Given the description of an element on the screen output the (x, y) to click on. 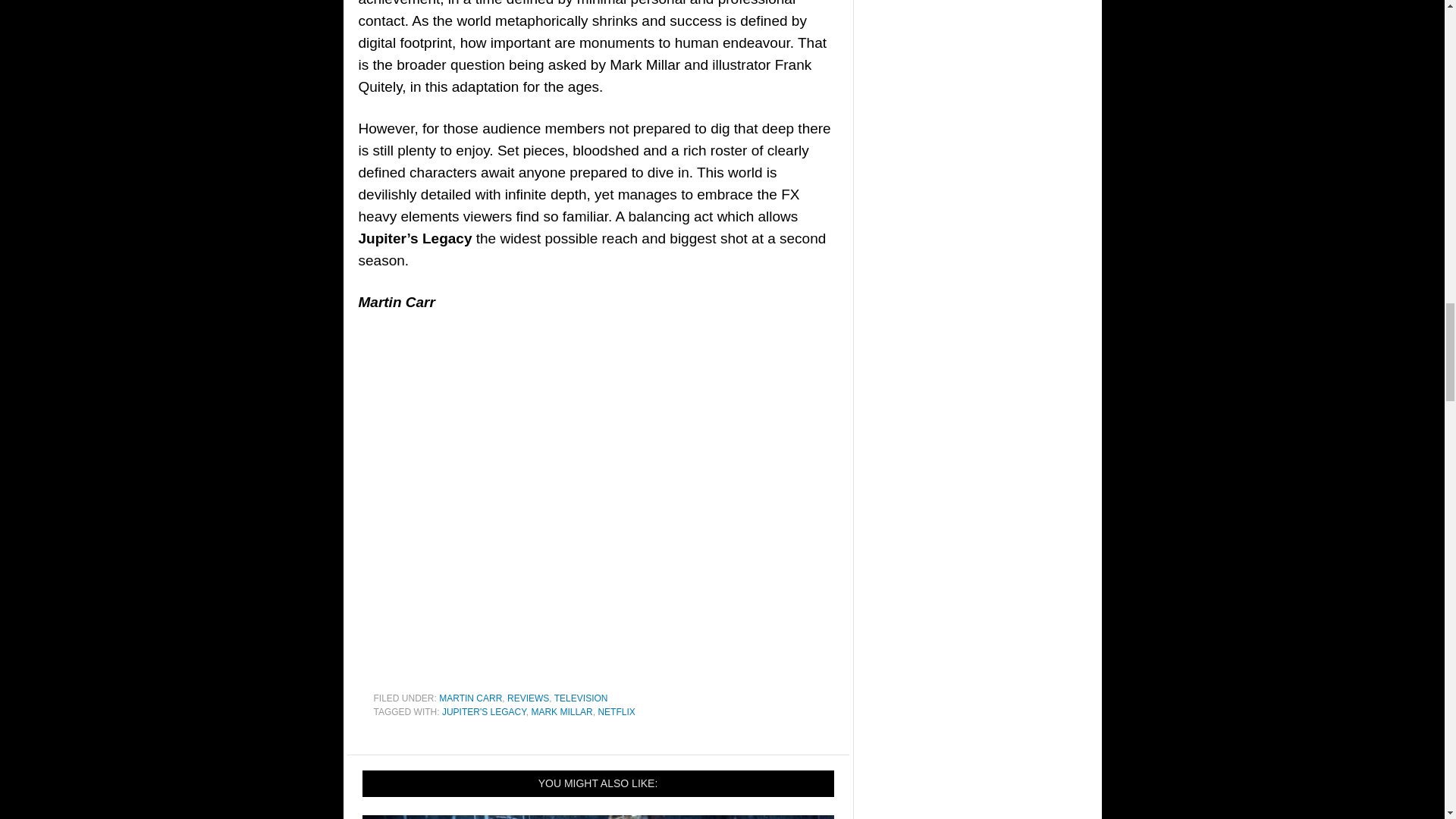
MARTIN CARR (470, 697)
